Given the description of an element on the screen output the (x, y) to click on. 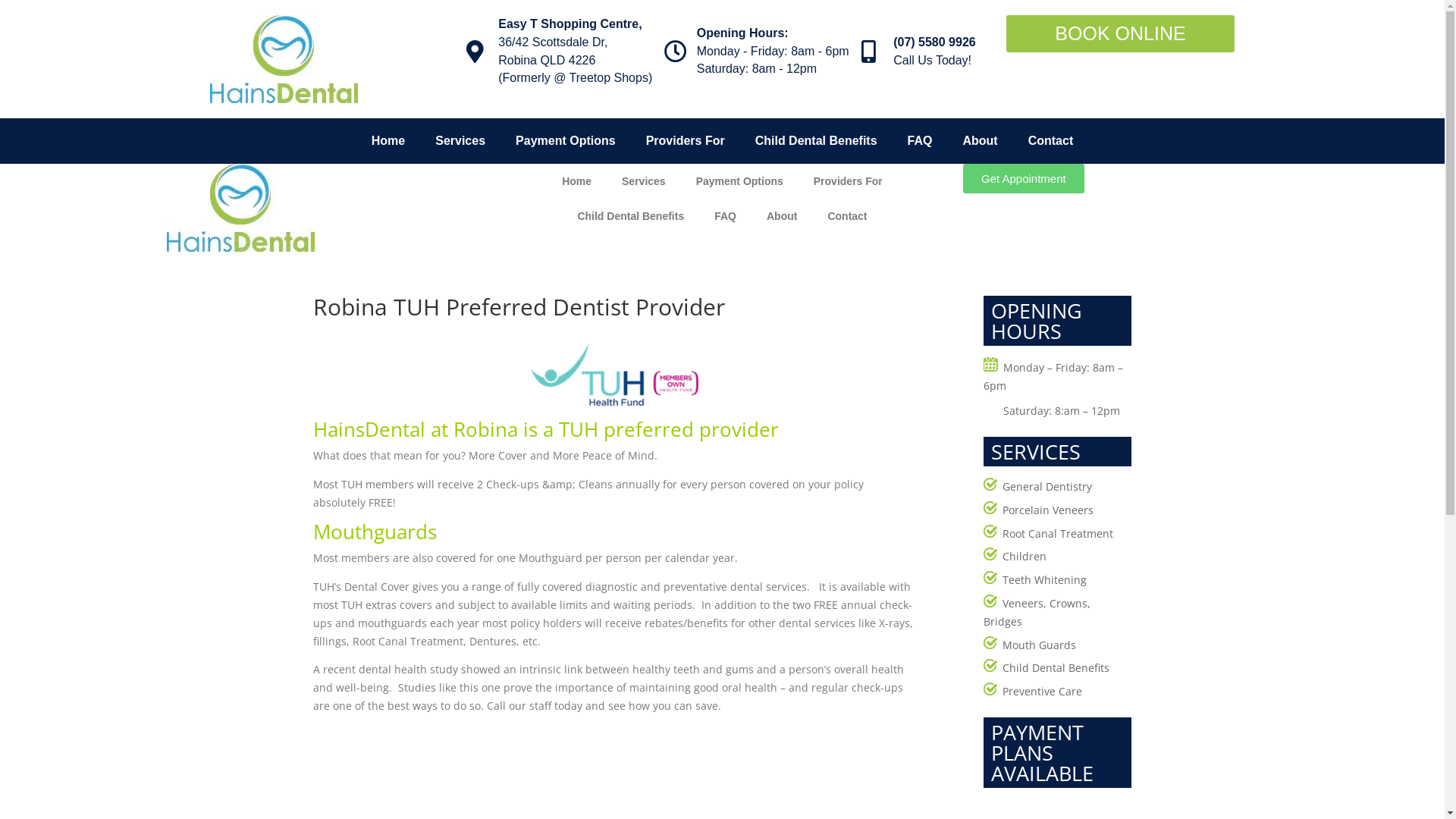
BOOK ONLINE Element type: text (1120, 33)
Providers For Element type: text (685, 140)
Preventive Care Element type: text (1042, 691)
Services Element type: text (460, 140)
Services Element type: text (643, 180)
Children Element type: text (1024, 556)
Payment Options Element type: text (739, 180)
Contact Element type: text (1050, 140)
FAQ Element type: text (919, 140)
Child Dental Benefits Element type: text (816, 140)
Root Canal Treatment Element type: text (1057, 533)
Child Dental Benefits Element type: text (630, 215)
Providers For Element type: text (847, 180)
Teeth Whitening Element type: text (1044, 579)
(07) 5580 9926
Call Us Today! Element type: text (918, 51)
Mouth Guards Element type: text (1039, 644)
About Element type: text (781, 215)
Home Element type: text (388, 140)
FAQ Element type: text (725, 215)
Veneers, Crowns, Bridges Element type: text (1036, 612)
Get Appointment Element type: text (1023, 178)
About Element type: text (979, 140)
Porcelain Veneers Element type: text (1047, 509)
Payment Options Element type: text (565, 140)
Contact Element type: text (846, 215)
Child Dental Benefits Element type: text (1055, 667)
Home Element type: text (576, 180)
General Dentistry Element type: text (1047, 486)
